Given the description of an element on the screen output the (x, y) to click on. 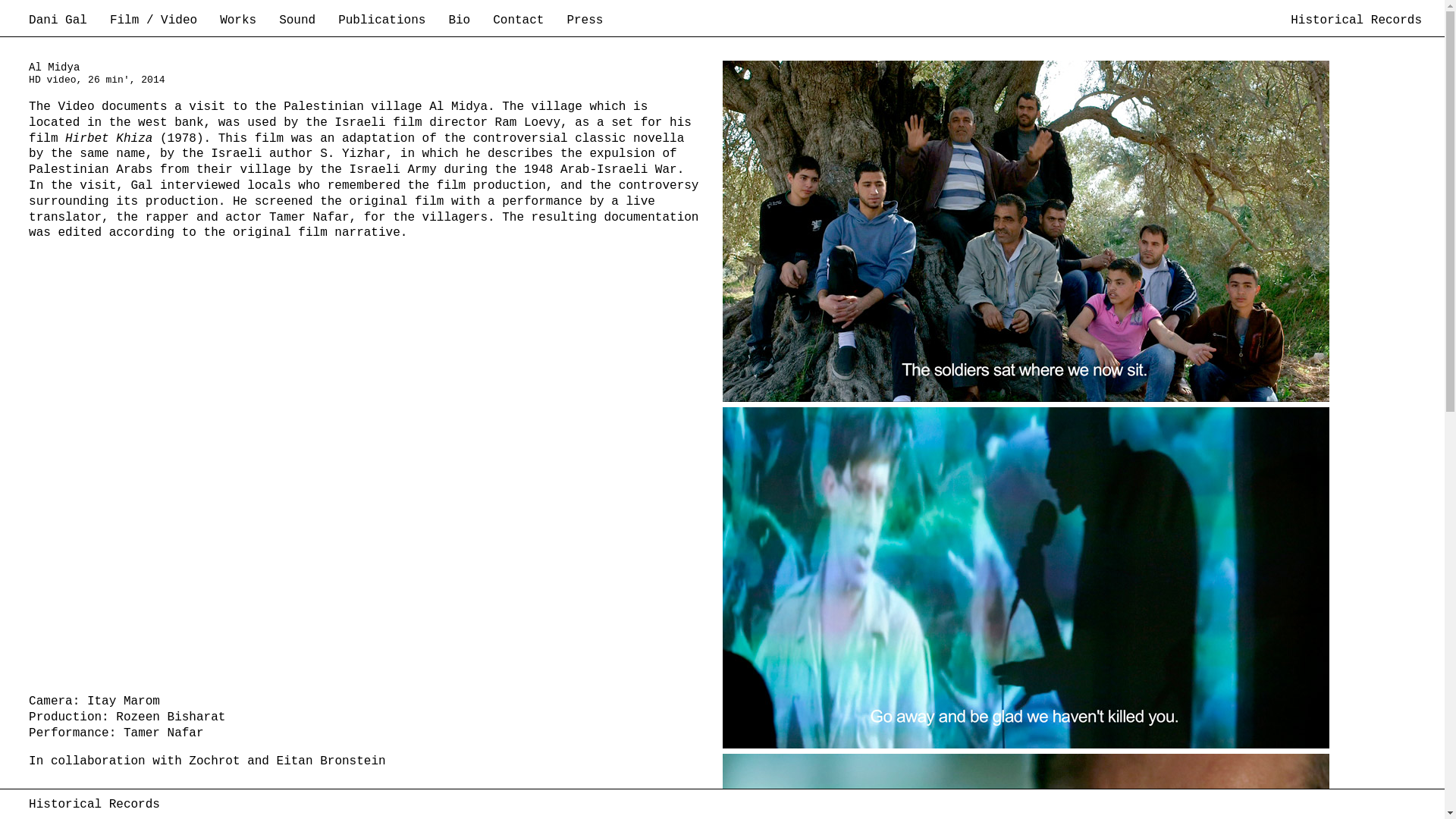
Press (596, 24)
Sound (308, 24)
Publications (392, 24)
Itay Marom (123, 701)
Historical Records (94, 804)
Tamer Nafar (163, 733)
Dani Gal (69, 24)
Rozeen Bisharat (170, 716)
Contact (529, 24)
Eitan Bronstein (330, 761)
Works (249, 24)
Bio (470, 24)
Zochrot (214, 761)
Hirbet Khiza (105, 138)
